Given the description of an element on the screen output the (x, y) to click on. 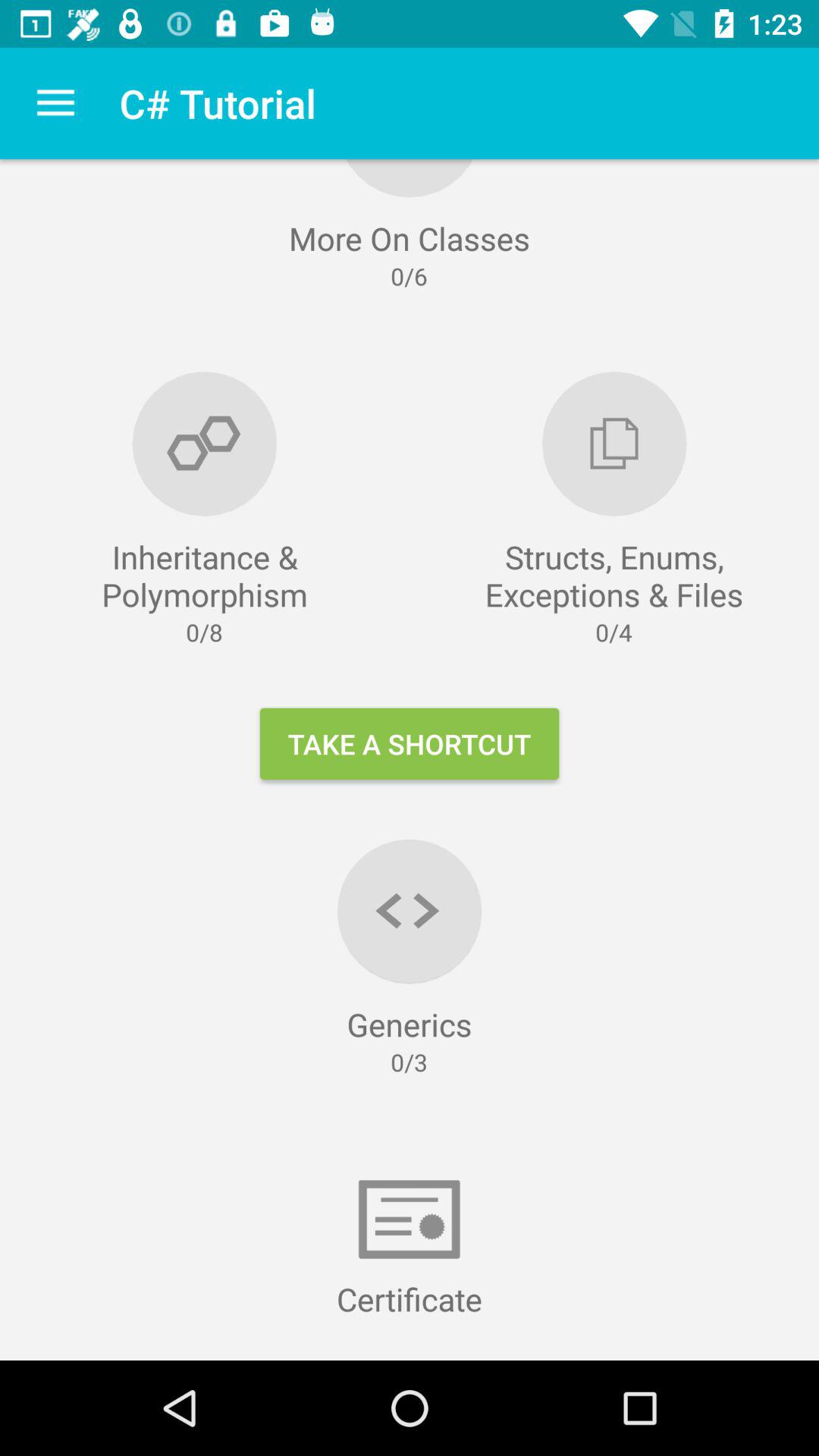
tap the take a shortcut icon (409, 743)
